Given the description of an element on the screen output the (x, y) to click on. 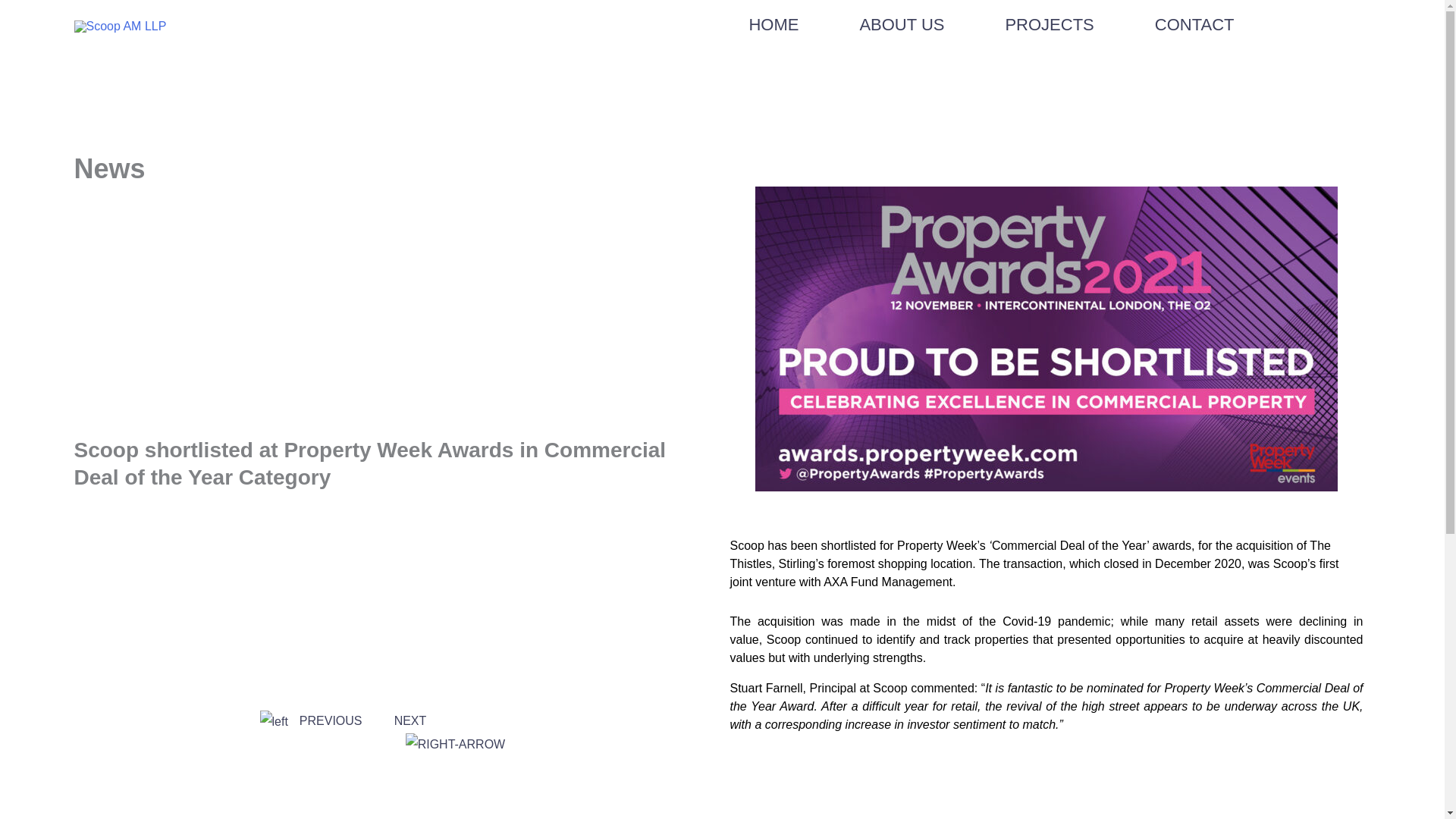
PROJECTS (1049, 24)
CONTACT (1194, 24)
ABOUT US (901, 24)
NEXT (449, 732)
PREVIOUS (310, 720)
HOME (772, 24)
